Given the description of an element on the screen output the (x, y) to click on. 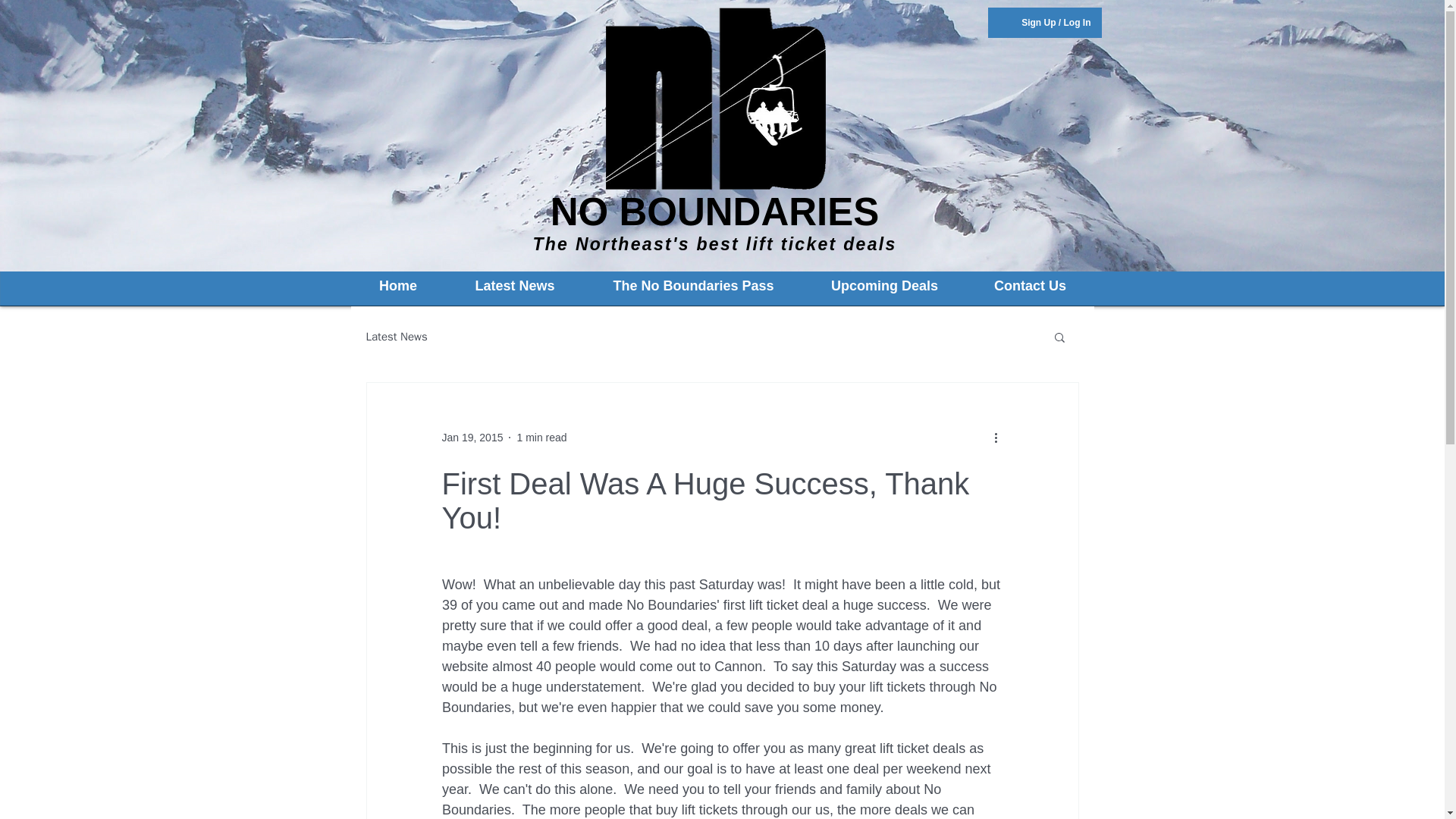
Home (397, 286)
Latest News (515, 286)
Contact Us (1029, 286)
The No Boundaries Pass (692, 286)
NO BOUNDARIES (714, 211)
1 min read (541, 436)
Jan 19, 2015 (471, 436)
Latest News (395, 336)
Upcoming Deals (884, 286)
